Given the description of an element on the screen output the (x, y) to click on. 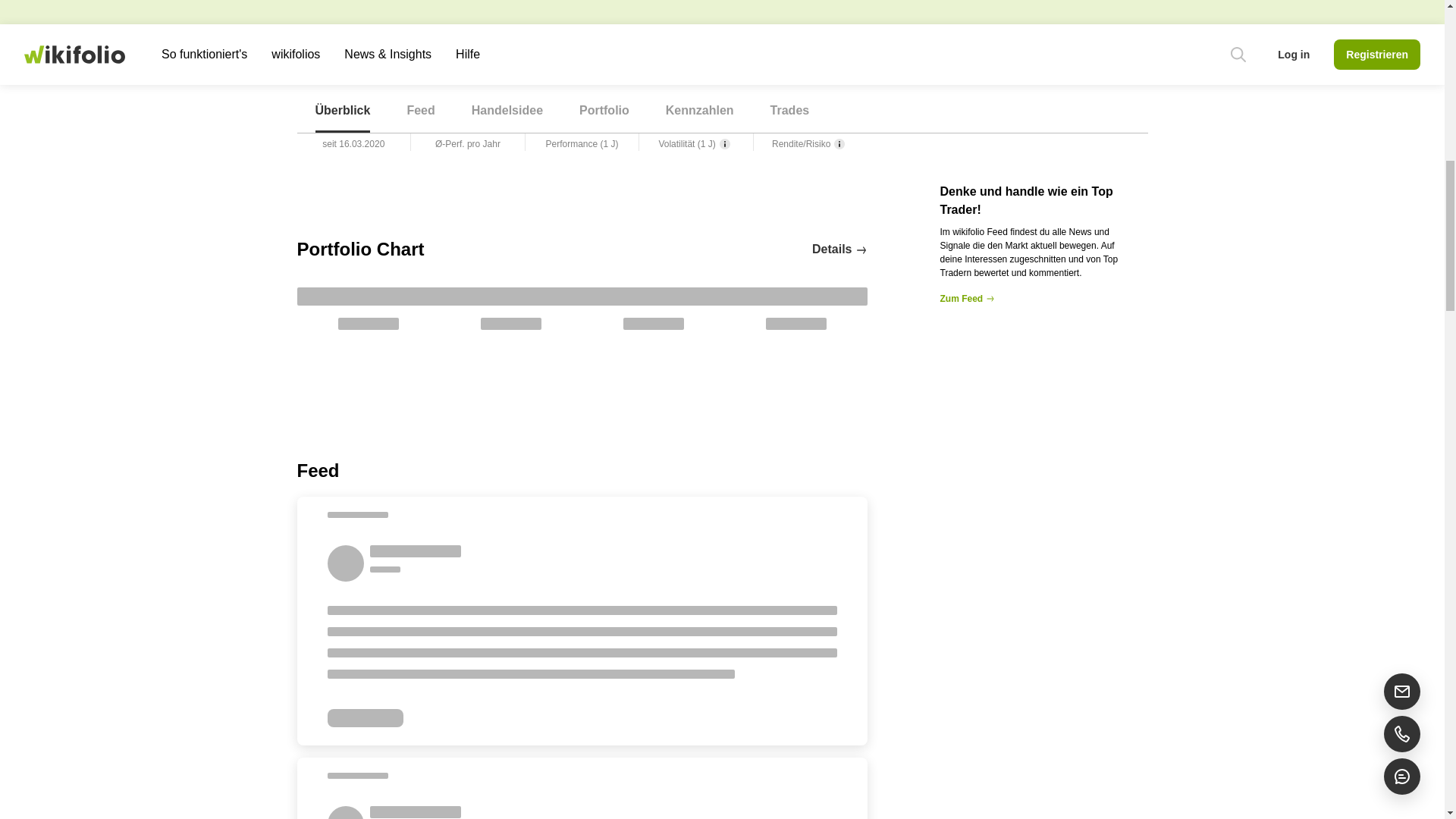
Log in (641, 8)
Zum Feed (1037, 298)
Details (839, 249)
Registrieren (539, 8)
